Given the description of an element on the screen output the (x, y) to click on. 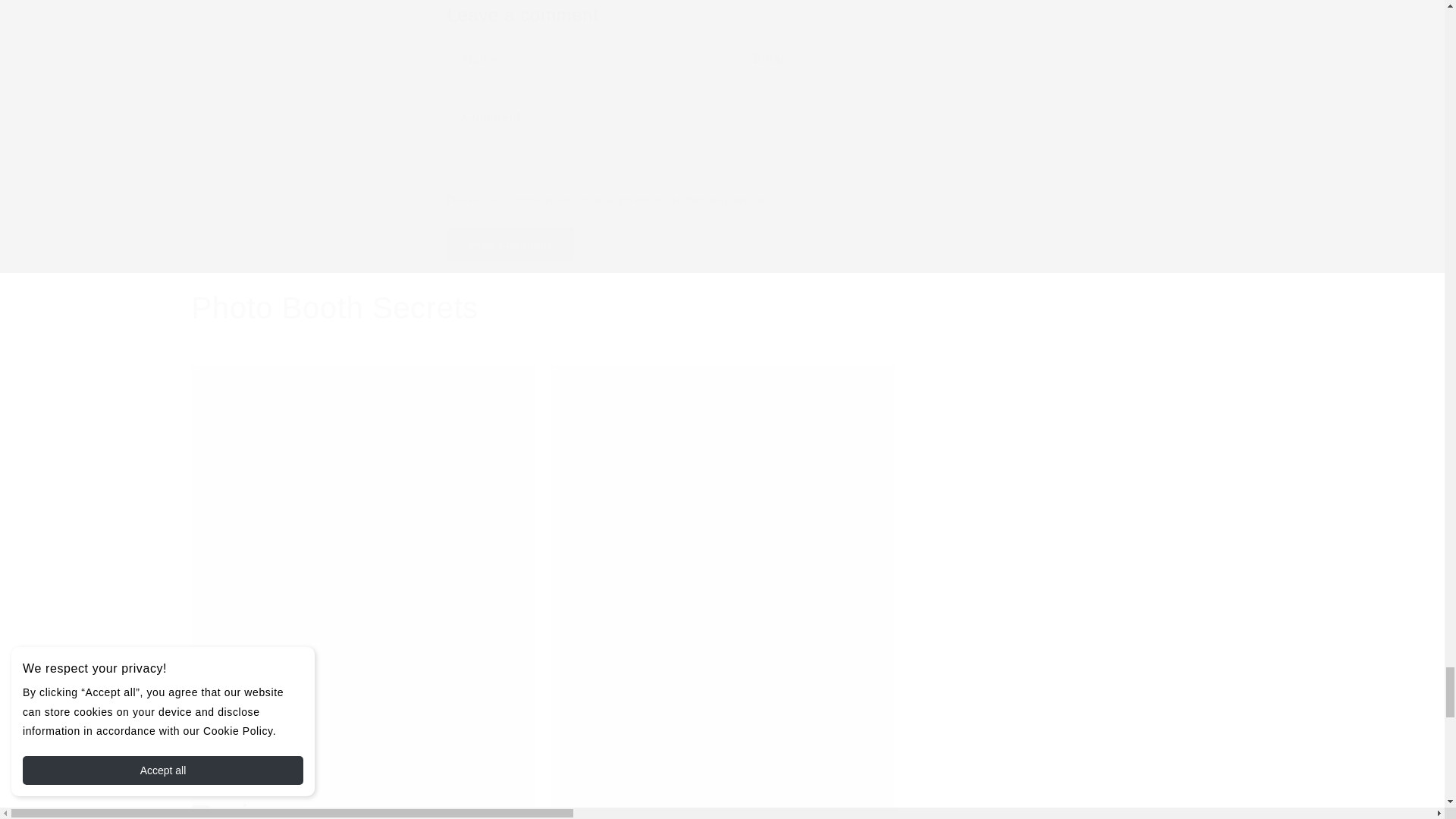
Post comment (510, 243)
Topics (234, 807)
Photo Booth Secrets (333, 307)
